Given the description of an element on the screen output the (x, y) to click on. 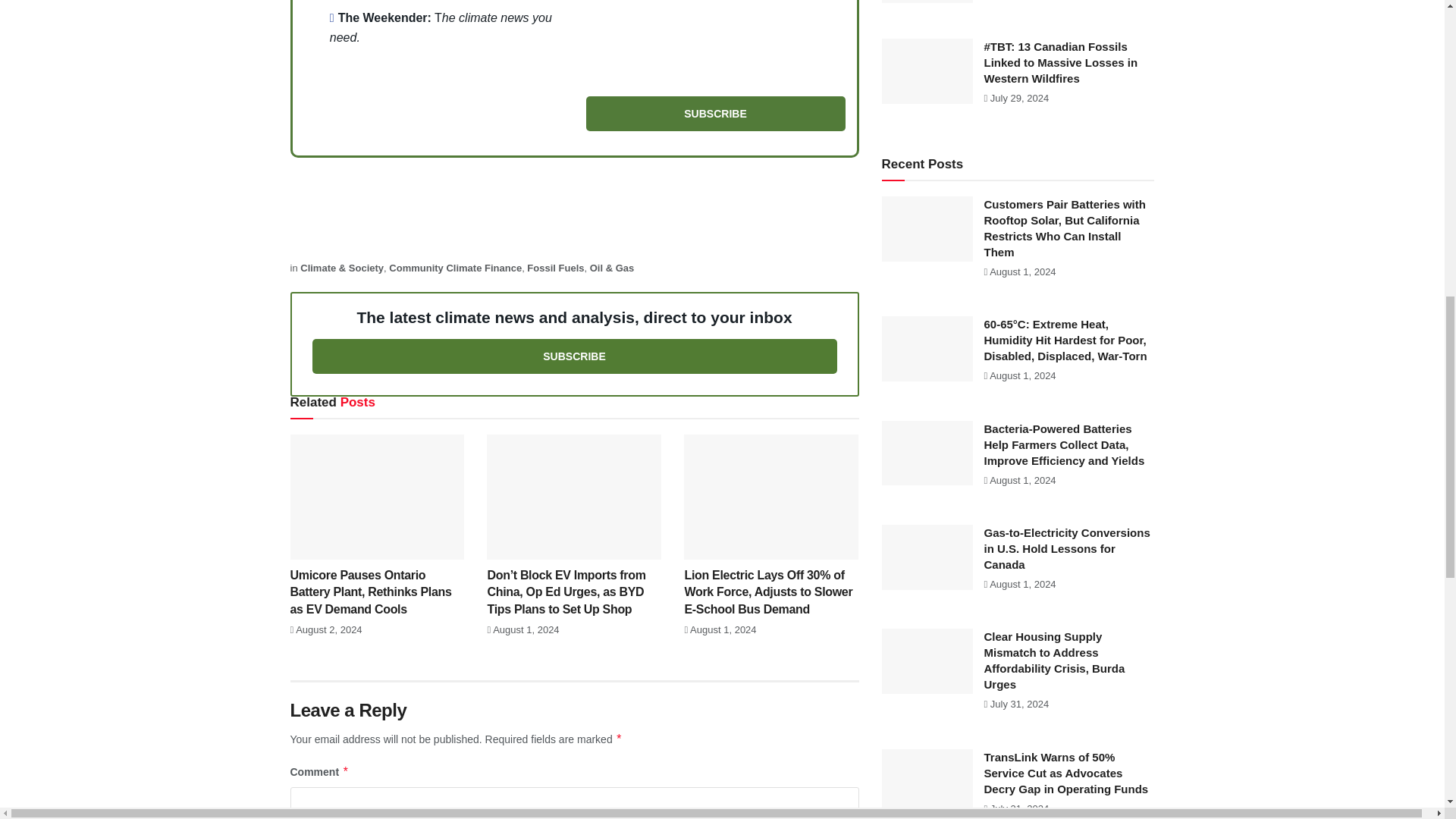
View Subscription Options (575, 356)
SUBSCRIBE (714, 113)
Subscribe (714, 113)
TEM-WeekenderDark (714, 36)
